Given the description of an element on the screen output the (x, y) to click on. 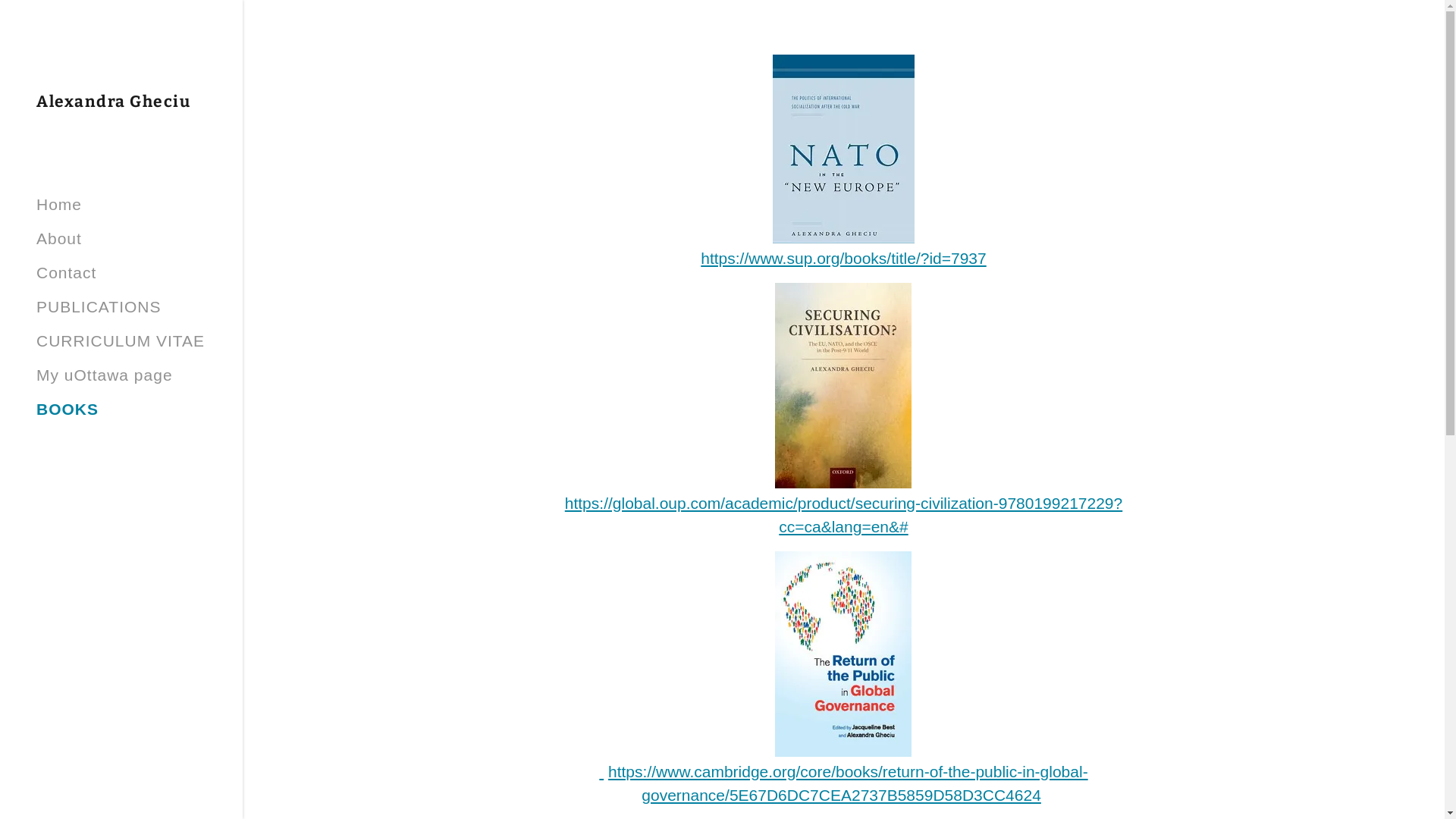
Home Element type: text (58, 204)
Alexandra Gheciu Element type: text (113, 100)
  Element type: text (601, 771)
BOOKS Element type: text (67, 408)
My uOttawa page Element type: text (104, 374)
About Element type: text (58, 238)
https://www.sup.org/books/title/?id=7937 Element type: text (842, 257)
Contact Element type: text (66, 272)
PUBLICATIONS Element type: text (98, 306)
CURRICULUM VITAE Element type: text (120, 340)
